Given the description of an element on the screen output the (x, y) to click on. 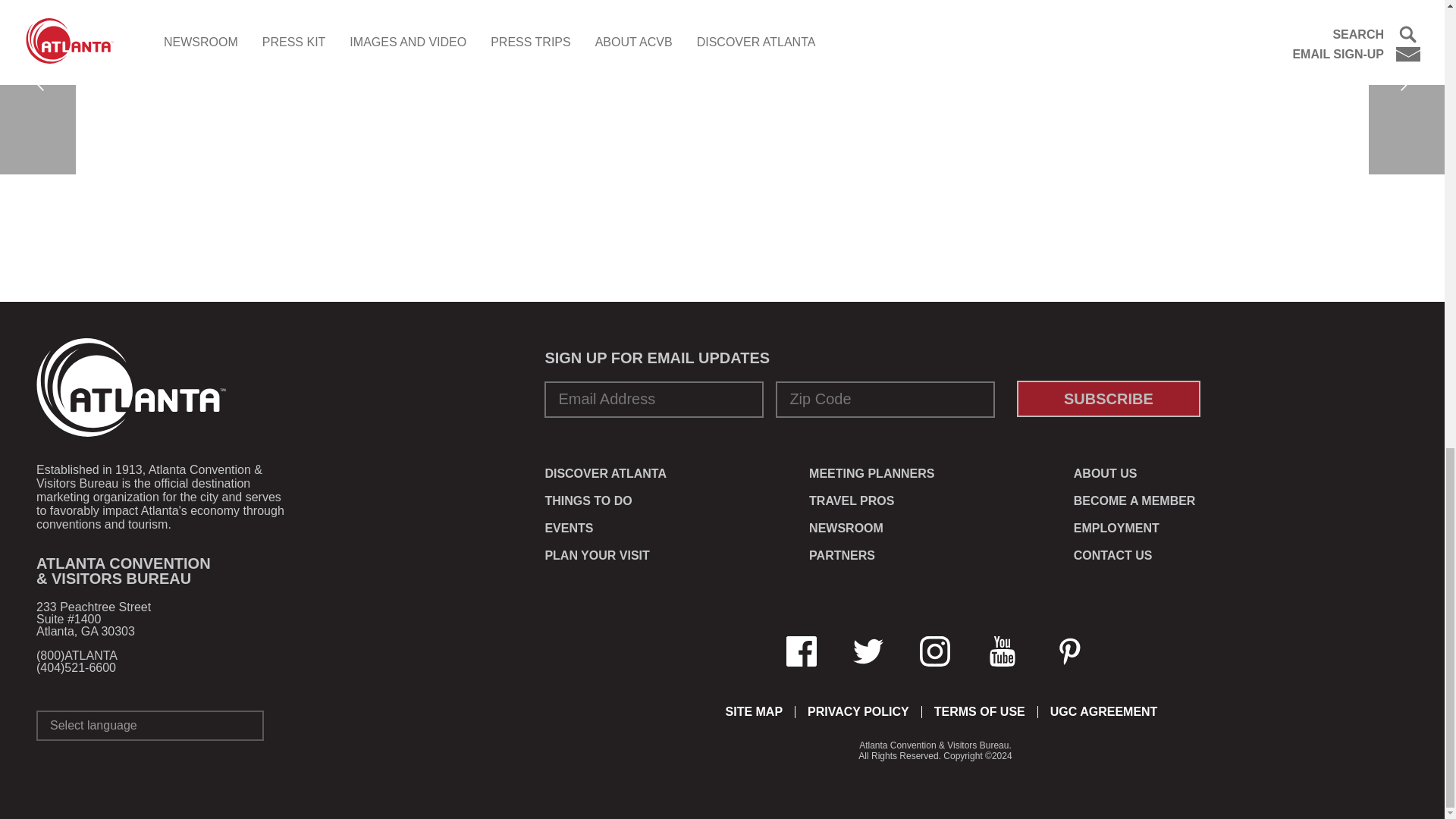
Subscribe (1107, 398)
NEWSROOM (846, 527)
BECOME A MEMBER (1134, 500)
EVENTS (568, 527)
DISCOVER ATLANTA (605, 472)
PARTNERS (842, 554)
Subscribe (1107, 398)
PLAN YOUR VISIT (596, 554)
THINGS TO DO (587, 500)
CONTACT US (1113, 554)
EMPLOYMENT (1116, 527)
TRAVEL PROS (851, 500)
ABOUT US (1105, 472)
MEETING PLANNERS (871, 472)
